Given the description of an element on the screen output the (x, y) to click on. 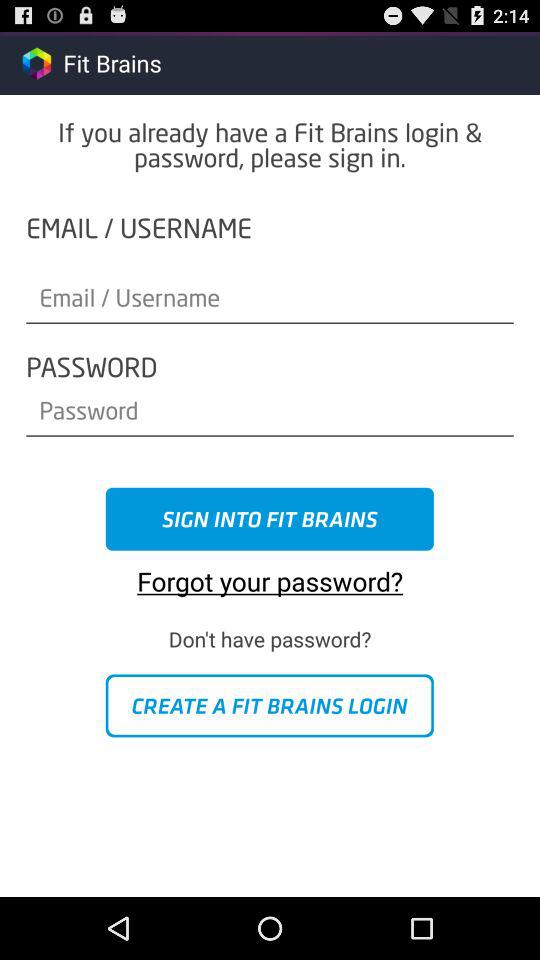
tap forgot your password? (270, 574)
